Given the description of an element on the screen output the (x, y) to click on. 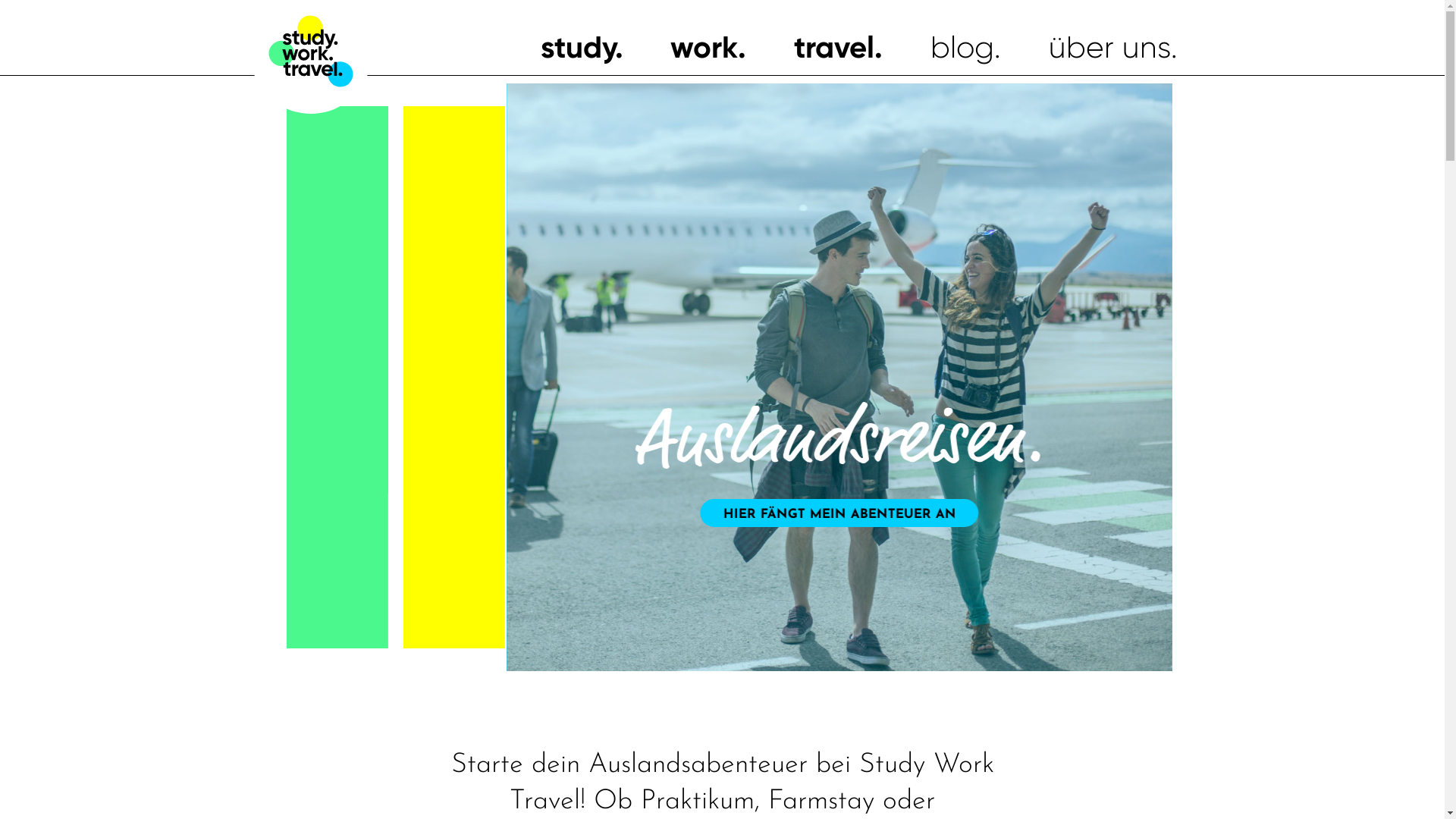
blog Element type: text (965, 47)
travel Element type: text (837, 46)
study Element type: text (580, 46)
work Element type: text (708, 46)
